Given the description of an element on the screen output the (x, y) to click on. 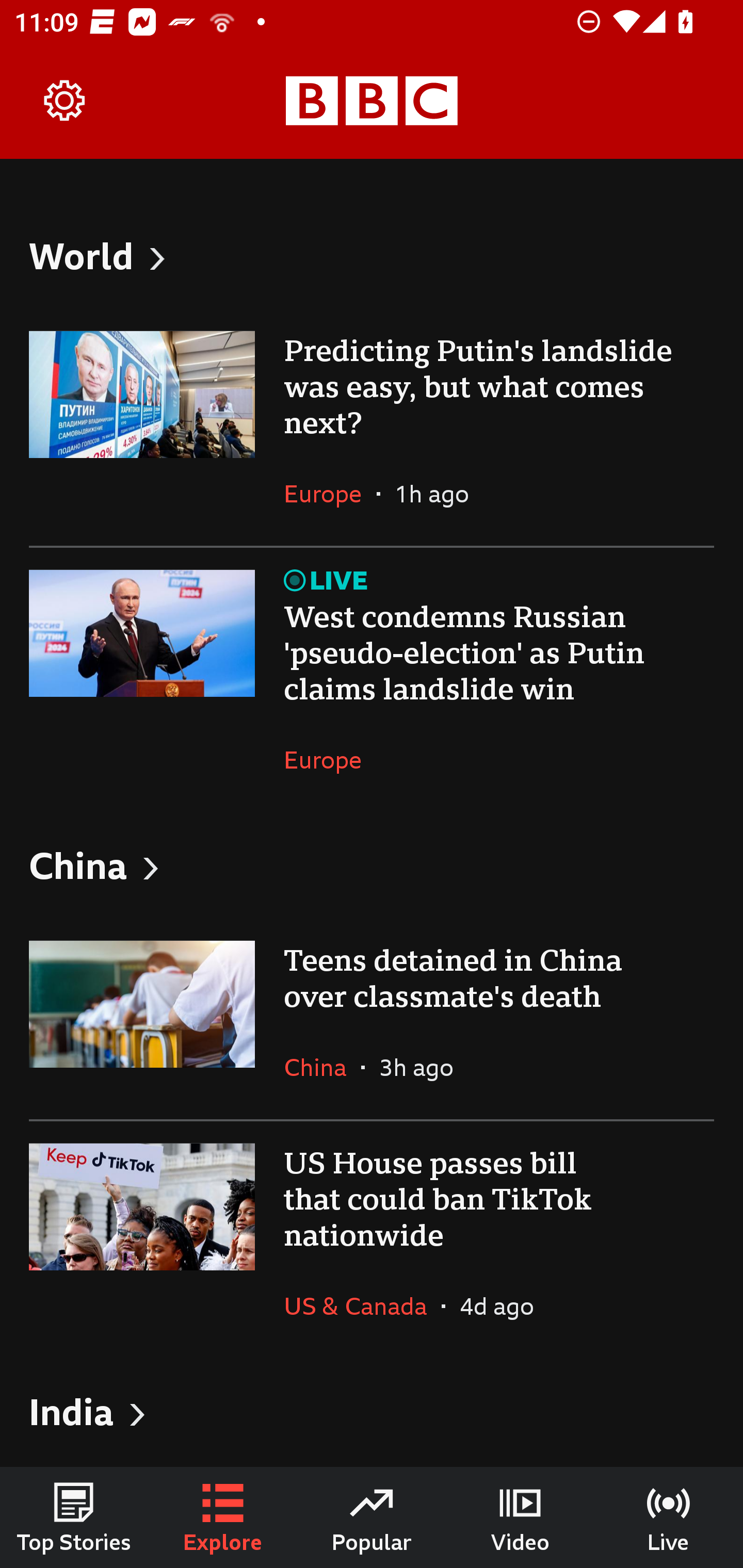
Settings (64, 100)
World, Heading World    (371, 255)
Europe In the section Europe (329, 493)
Europe In the section Europe (329, 759)
China, Heading China    (371, 865)
China In the section China (322, 1066)
US & Canada In the section US & Canada (362, 1305)
India, Heading India    (371, 1410)
Top Stories (74, 1517)
Popular (371, 1517)
Video (519, 1517)
Live (668, 1517)
